Given the description of an element on the screen output the (x, y) to click on. 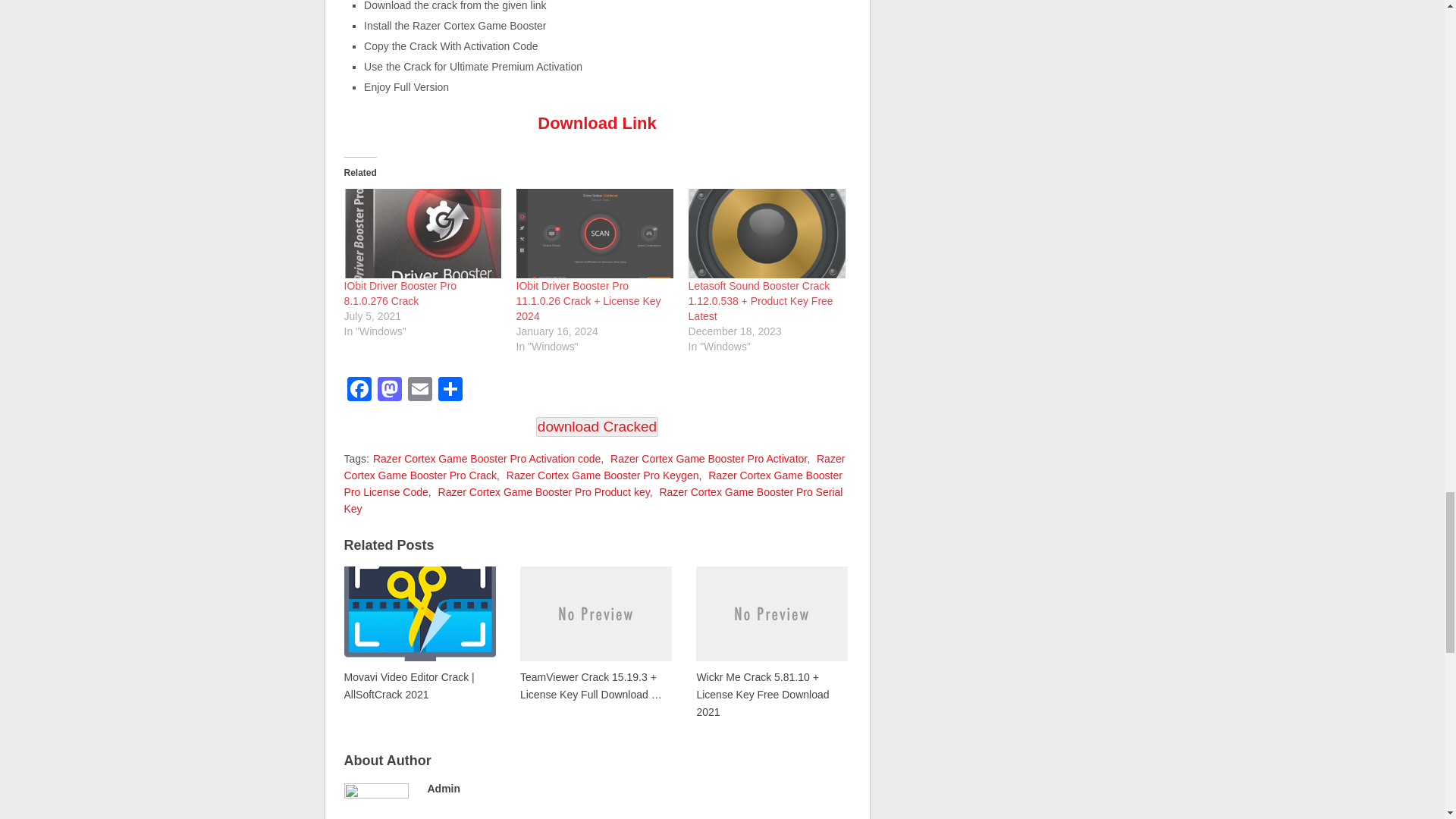
IObit Driver Booster Pro 8.1.0.276 Crack (400, 293)
Facebook (358, 390)
Email (419, 390)
Mastodon (389, 390)
Mastodon (389, 390)
Email (419, 390)
IObit Driver Booster Pro 8.1.0.276 Crack (400, 293)
IObit Driver Booster Pro 8.1.0.276 Crack (421, 233)
Razer Cortex Game Booster Pro Activator (708, 458)
Facebook (358, 390)
